Given the description of an element on the screen output the (x, y) to click on. 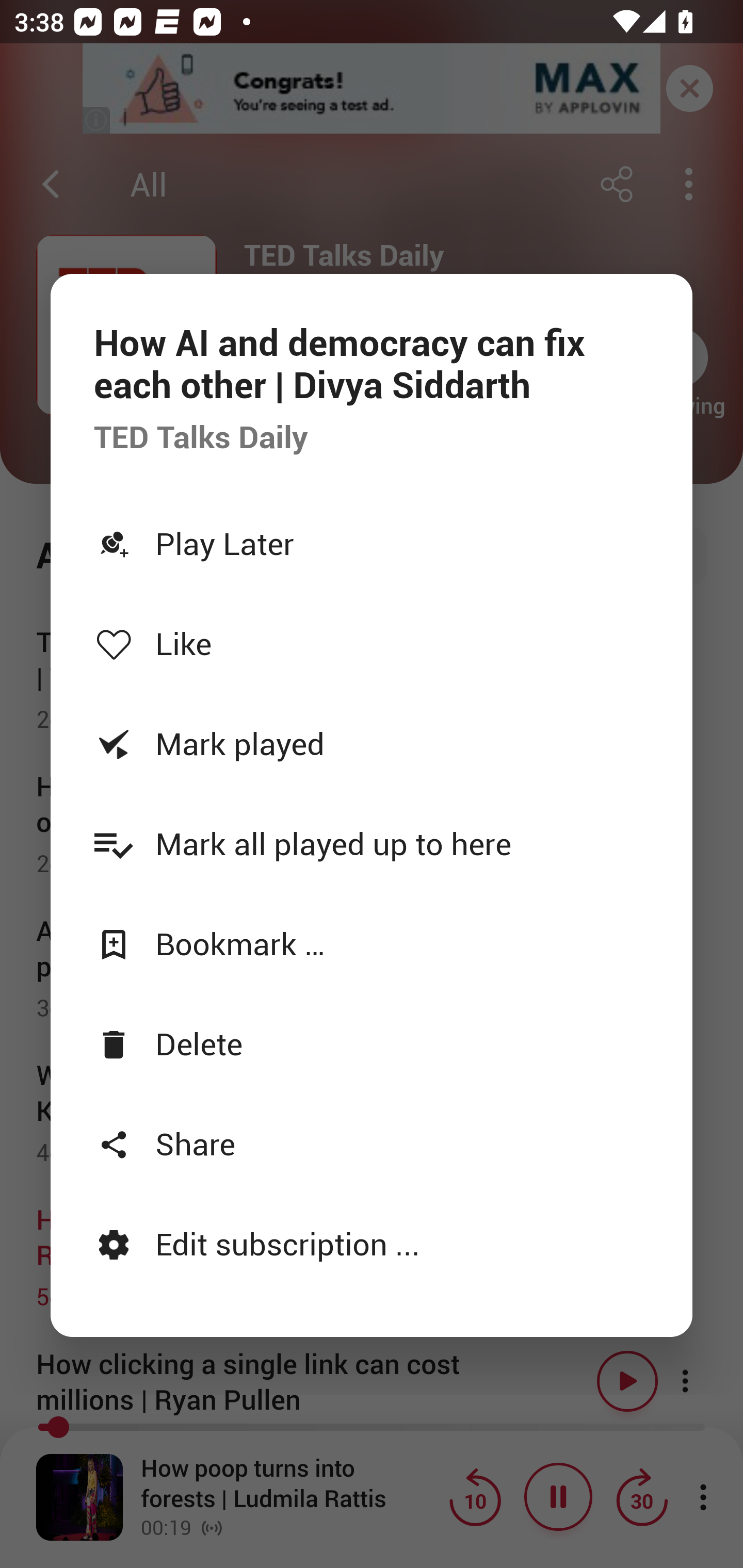
Play Later (371, 542)
Like (371, 642)
Mark played (371, 743)
Mark all played up to here (371, 843)
Bookmark … (371, 943)
Delete (371, 1043)
Share (371, 1142)
Edit subscription ... (371, 1243)
